Given the description of an element on the screen output the (x, y) to click on. 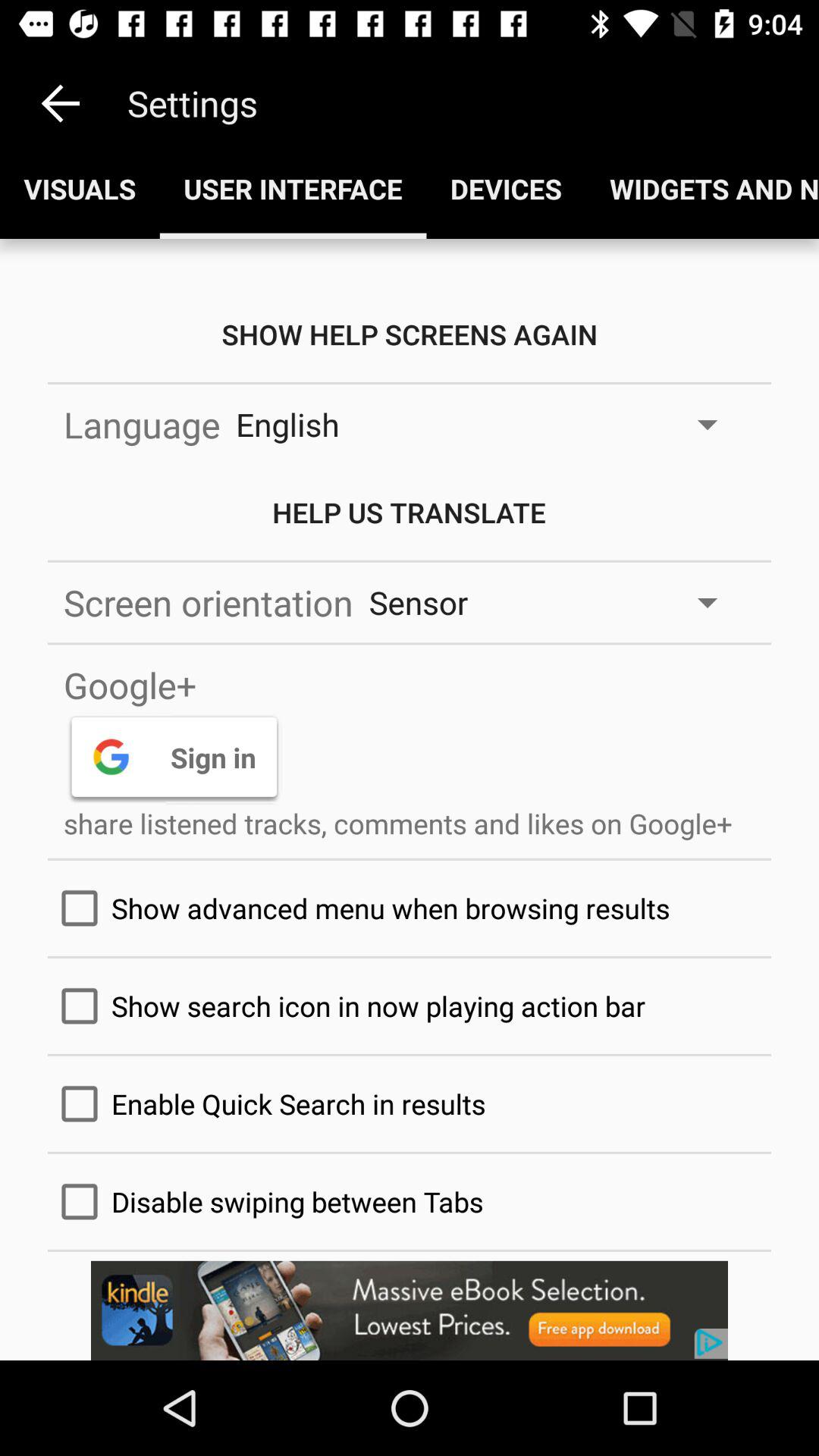
click on the fourth option below the settings (702, 188)
move to the text option which is above the text enable quick search in results (409, 1006)
click the text above kindle (409, 1201)
click on the devices text option (506, 188)
select the second button below settings (292, 188)
